Given the description of an element on the screen output the (x, y) to click on. 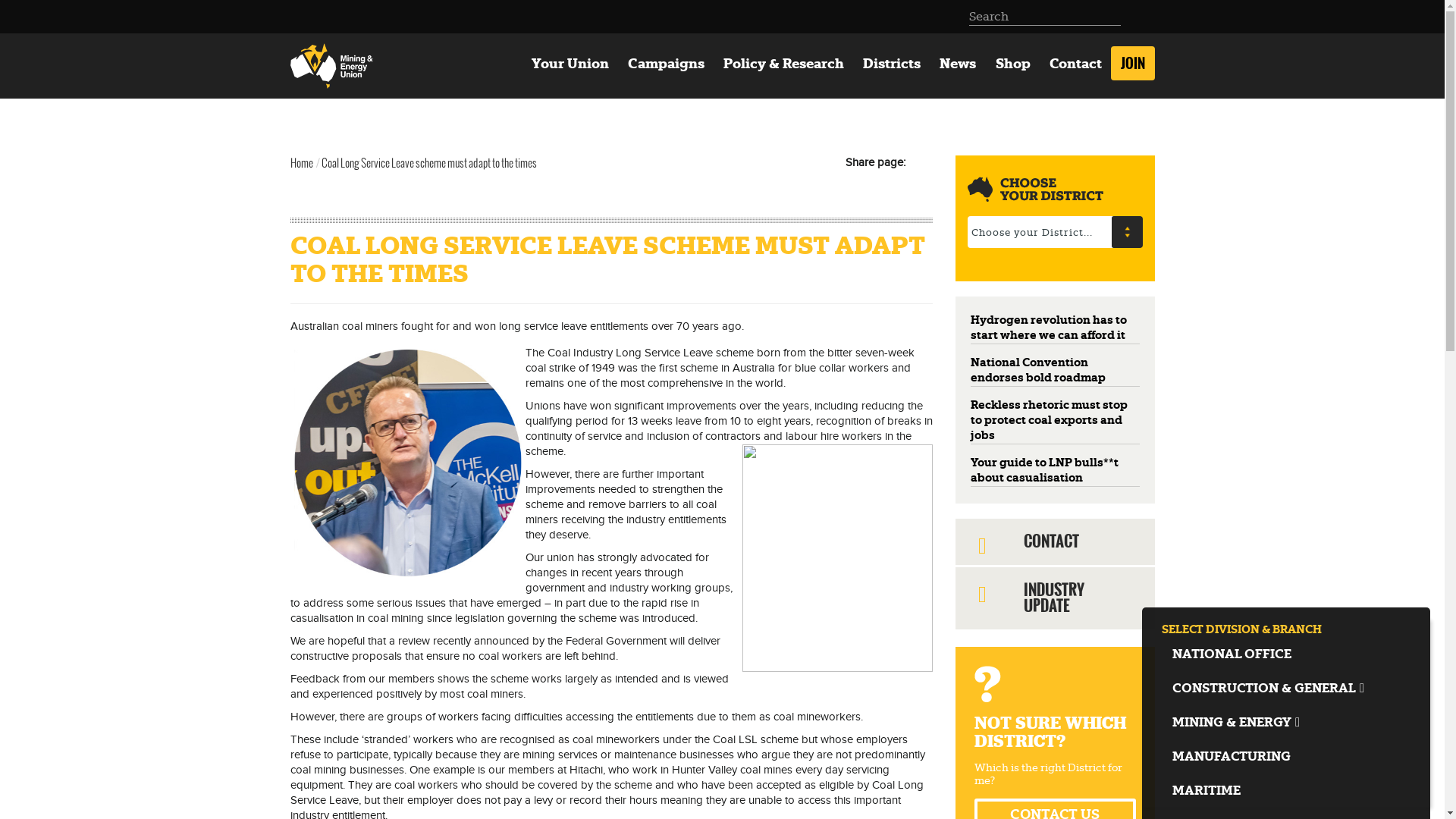
Home Element type: hover (335, 65)
INDUSTRY UPDATE Element type: text (1054, 598)
MARITIME Element type: text (1285, 790)
NATIONAL OFFICE Element type: text (1285, 653)
JOIN Element type: text (1132, 63)
Shop Element type: text (1012, 63)
Home Element type: text (300, 162)
MINING & ENERGY Element type: text (1285, 721)
Reckless rhetoric must stop to protect coal exports and jobs Element type: text (1048, 419)
Districts Element type: text (891, 63)
MANUFACTURING Element type: text (1285, 755)
National Convention endorses bold roadmap Element type: text (1037, 369)
CONSTRUCTION & GENERAL Element type: text (1285, 687)
CONTACT Element type: text (1054, 541)
News Element type: text (957, 63)
Your Union Element type: text (569, 63)
Contact Element type: text (1074, 63)
Campaigns Element type: text (665, 63)
Hydrogen revolution has to start where we can afford it Element type: text (1048, 327)
Policy & Research Element type: text (783, 63)
Your guide to LNP bulls**t about casualisation Element type: text (1044, 470)
